Given the description of an element on the screen output the (x, y) to click on. 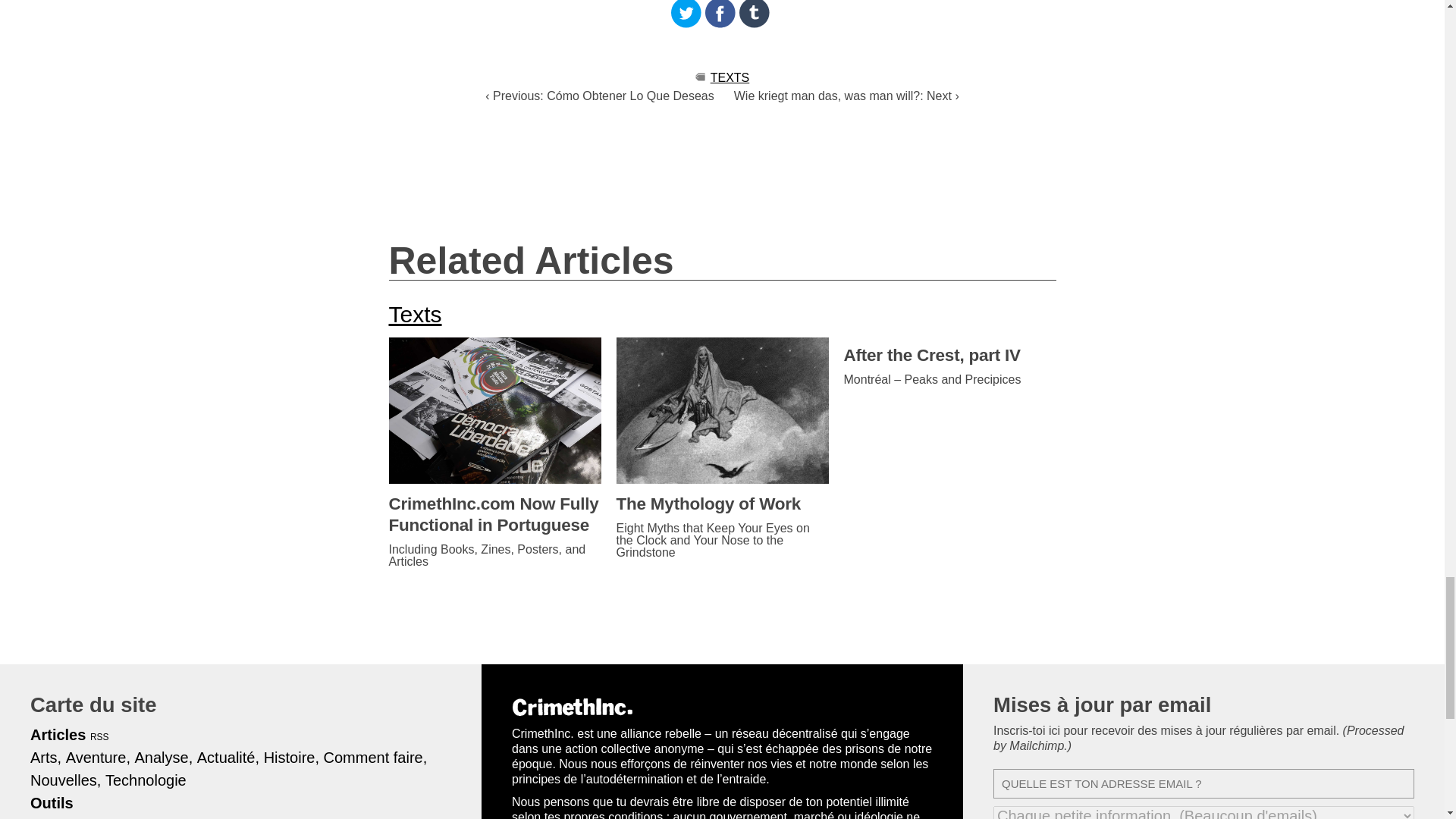
Analyse (164, 757)
Technologie (145, 780)
Arts (45, 757)
Outils (52, 802)
Including Books, Zines, Posters, and Articles (493, 555)
Share on Facebook (719, 13)
Share on Tumblr (754, 13)
Comment faire (375, 757)
Histoire (290, 757)
TEXTS (729, 77)
Aventure (98, 757)
Nouvelles (65, 780)
After the Crest, part IV (949, 355)
RSS (99, 737)
